Given the description of an element on the screen output the (x, y) to click on. 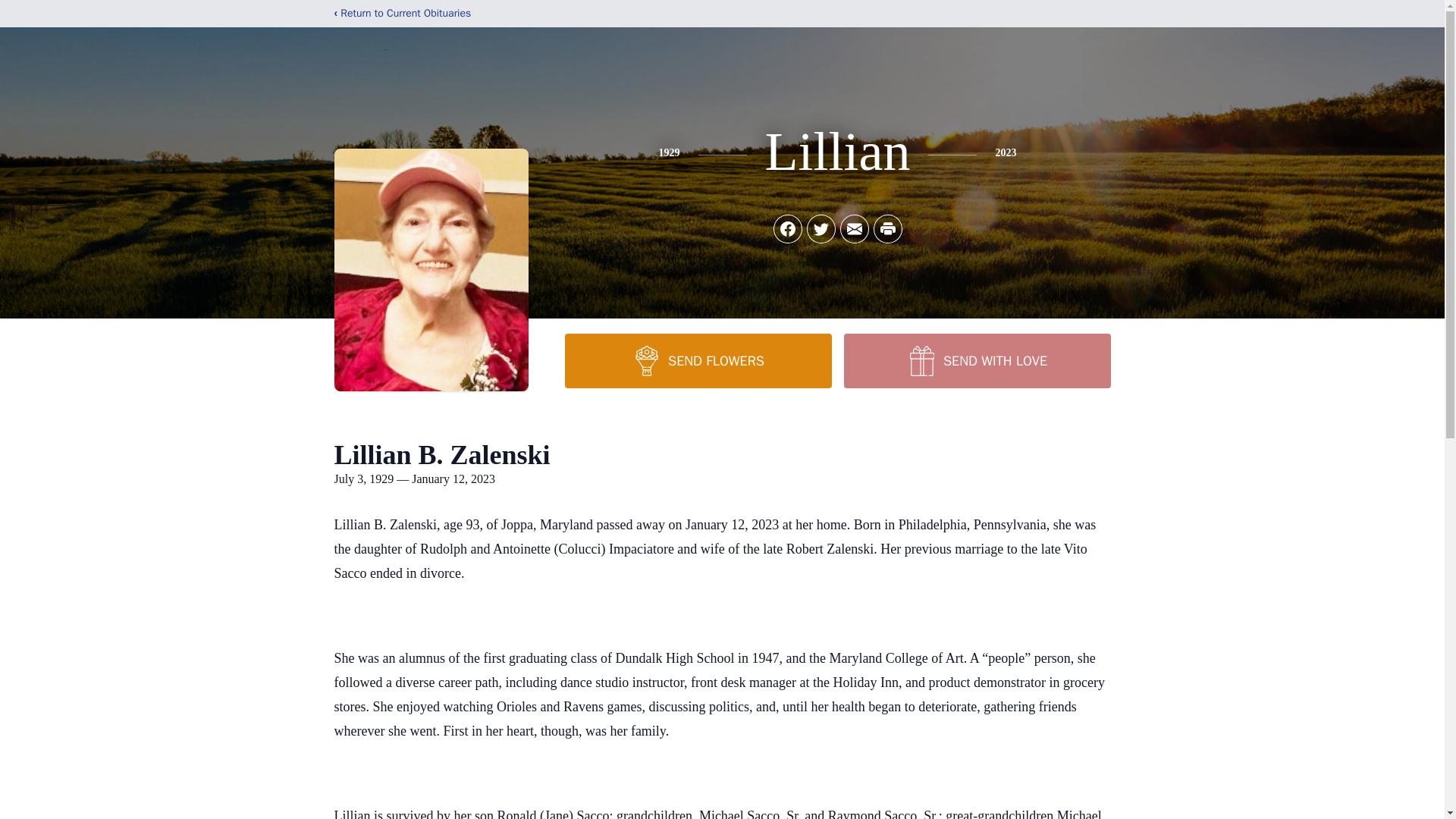
SEND WITH LOVE (976, 360)
SEND FLOWERS (697, 360)
